Given the description of an element on the screen output the (x, y) to click on. 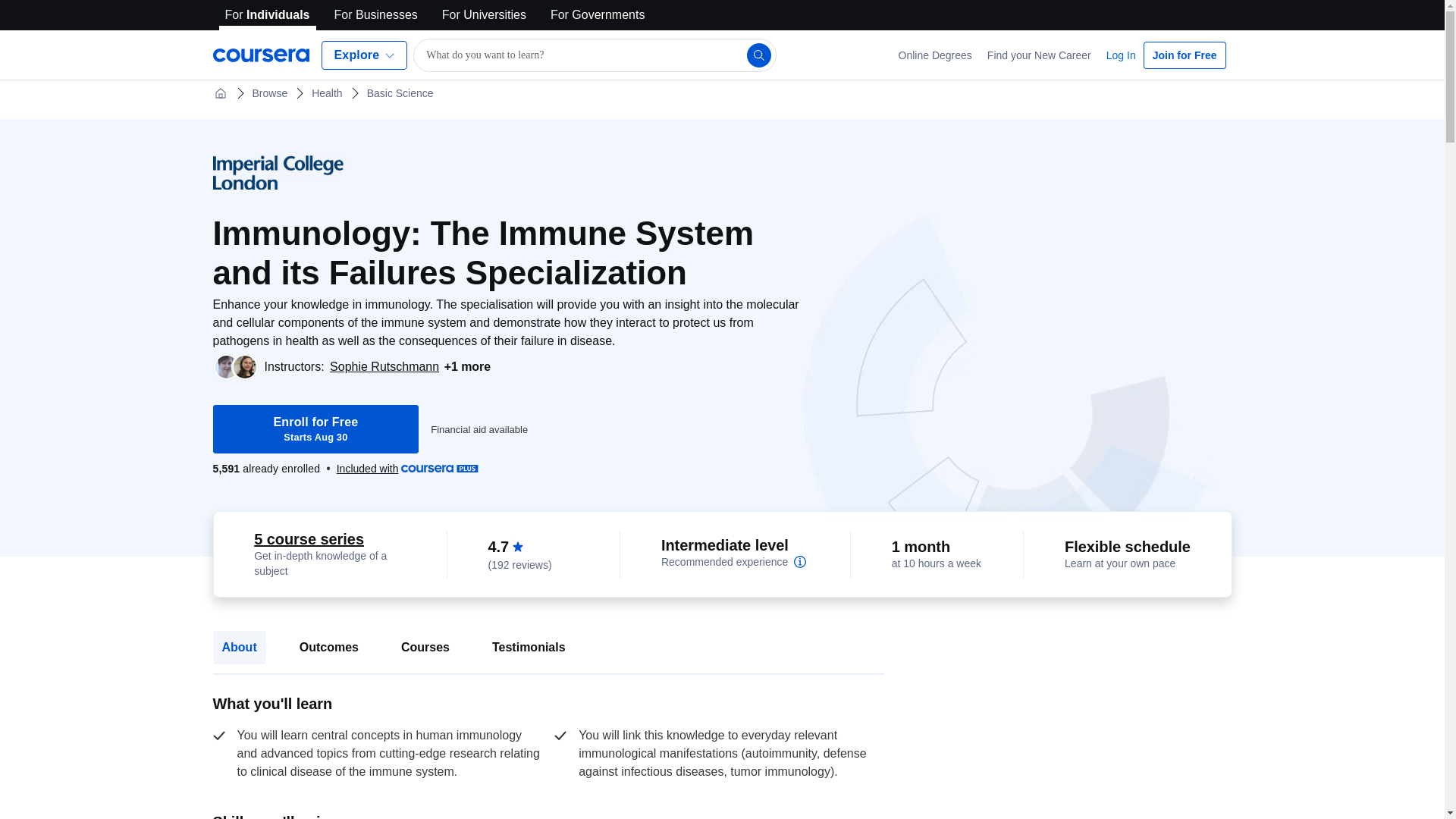
Explore (364, 54)
For Universities (315, 428)
Browse (483, 15)
Financial aid available (270, 93)
For Businesses (478, 429)
For Governments (376, 15)
Online Degrees (597, 15)
For Individuals (935, 54)
Health (266, 15)
